Given the description of an element on the screen output the (x, y) to click on. 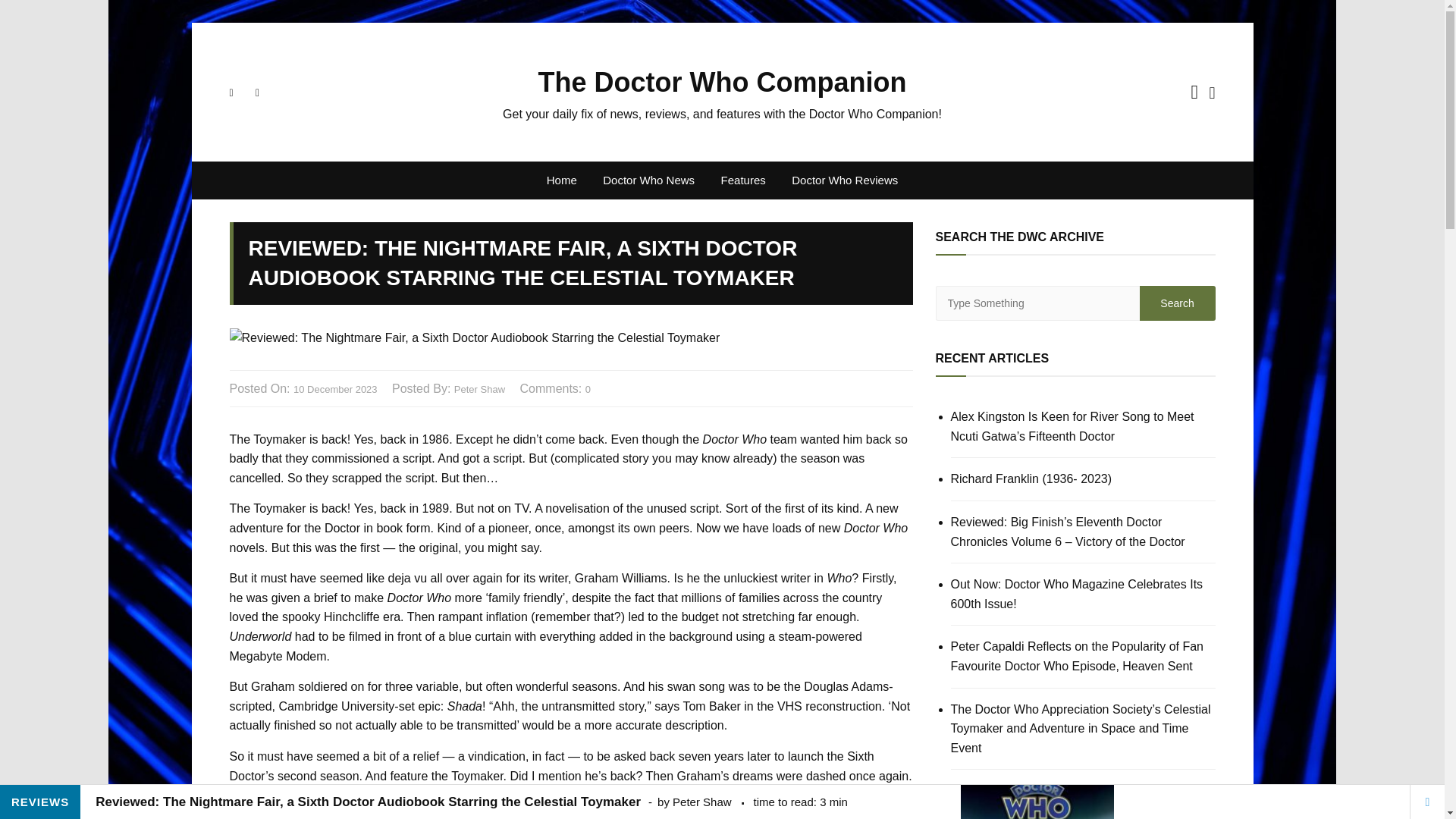
Doctor Who News (648, 180)
Home (561, 180)
The Doctor Who Companion (722, 81)
Search (1176, 303)
Doctor Who Reviews (844, 180)
Features (743, 180)
